Given the description of an element on the screen output the (x, y) to click on. 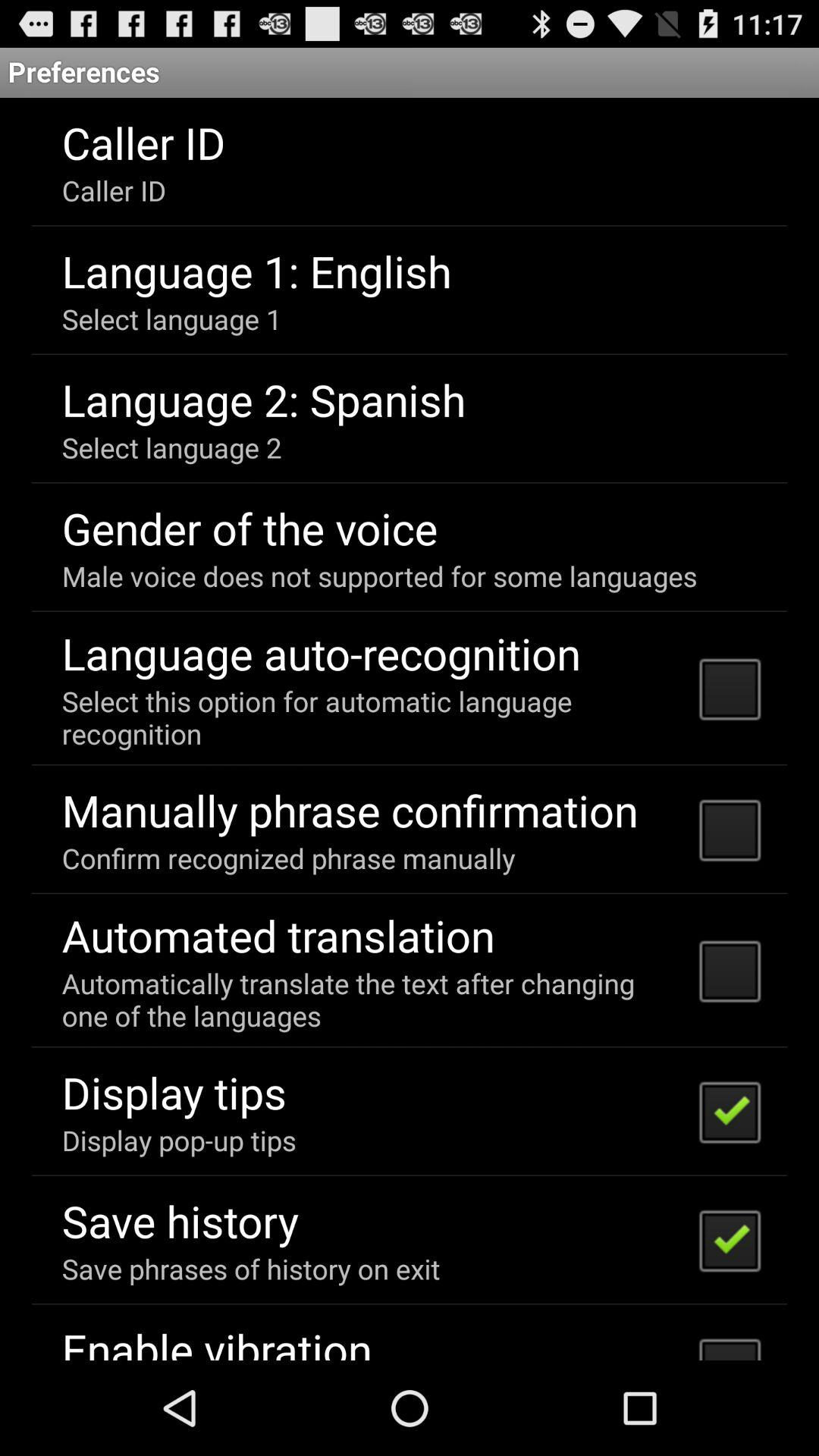
turn off app above automatically translate the icon (277, 935)
